Given the description of an element on the screen output the (x, y) to click on. 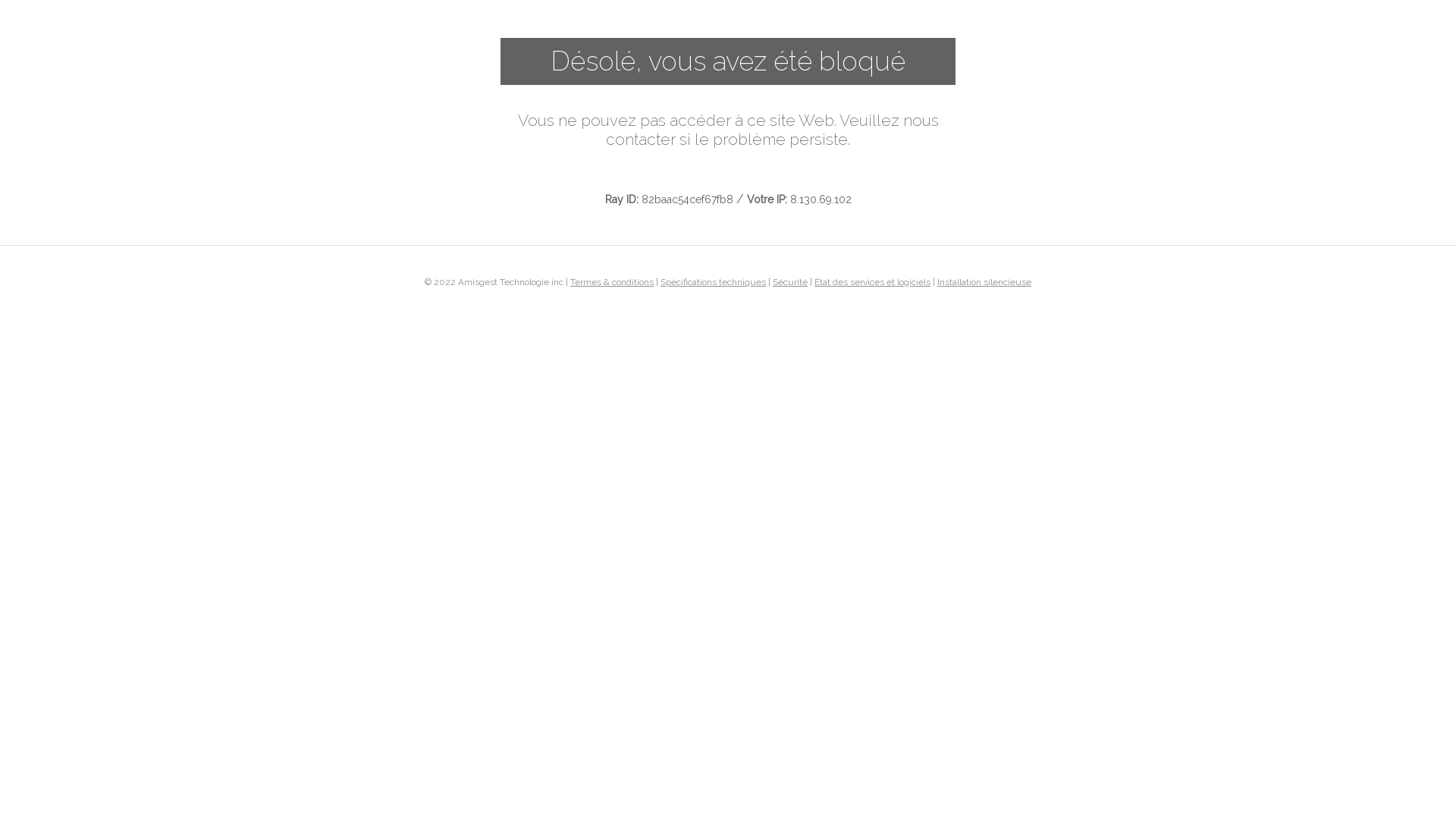
Installation silencieuse Element type: text (984, 281)
Termes & conditions Element type: text (611, 281)
